Given the description of an element on the screen output the (x, y) to click on. 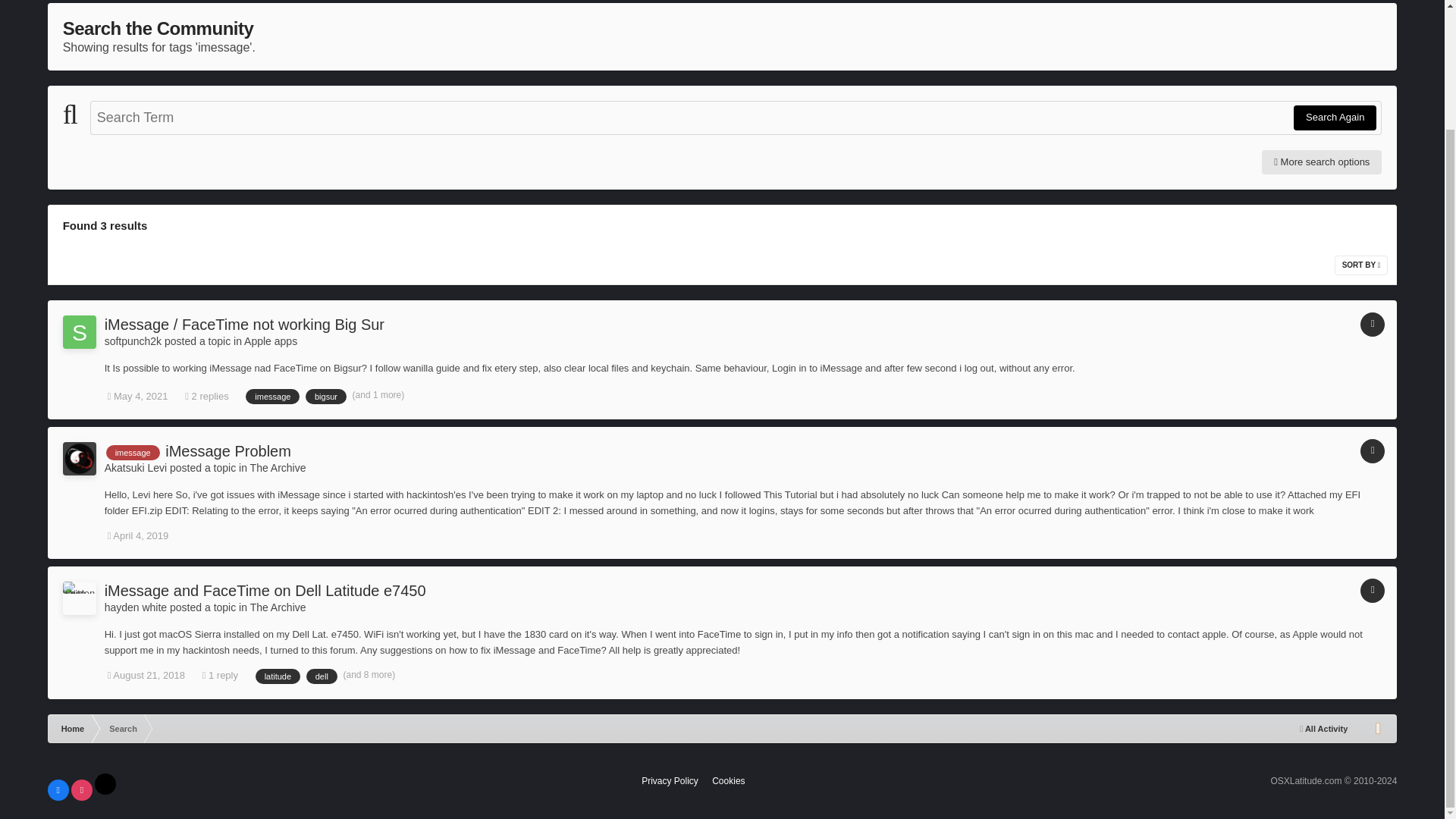
Go to softpunch2k's profile (79, 331)
Go to softpunch2k's profile (132, 340)
Find other content tagged with 'imessage' (272, 396)
Find other content tagged with 'imessage' (133, 452)
Topic (1371, 324)
Topic (1371, 450)
Go to Akatsuki Levi's profile (135, 467)
Find other content tagged with 'bigsur' (325, 396)
Go to Akatsuki Levi's profile (79, 458)
